Given the description of an element on the screen output the (x, y) to click on. 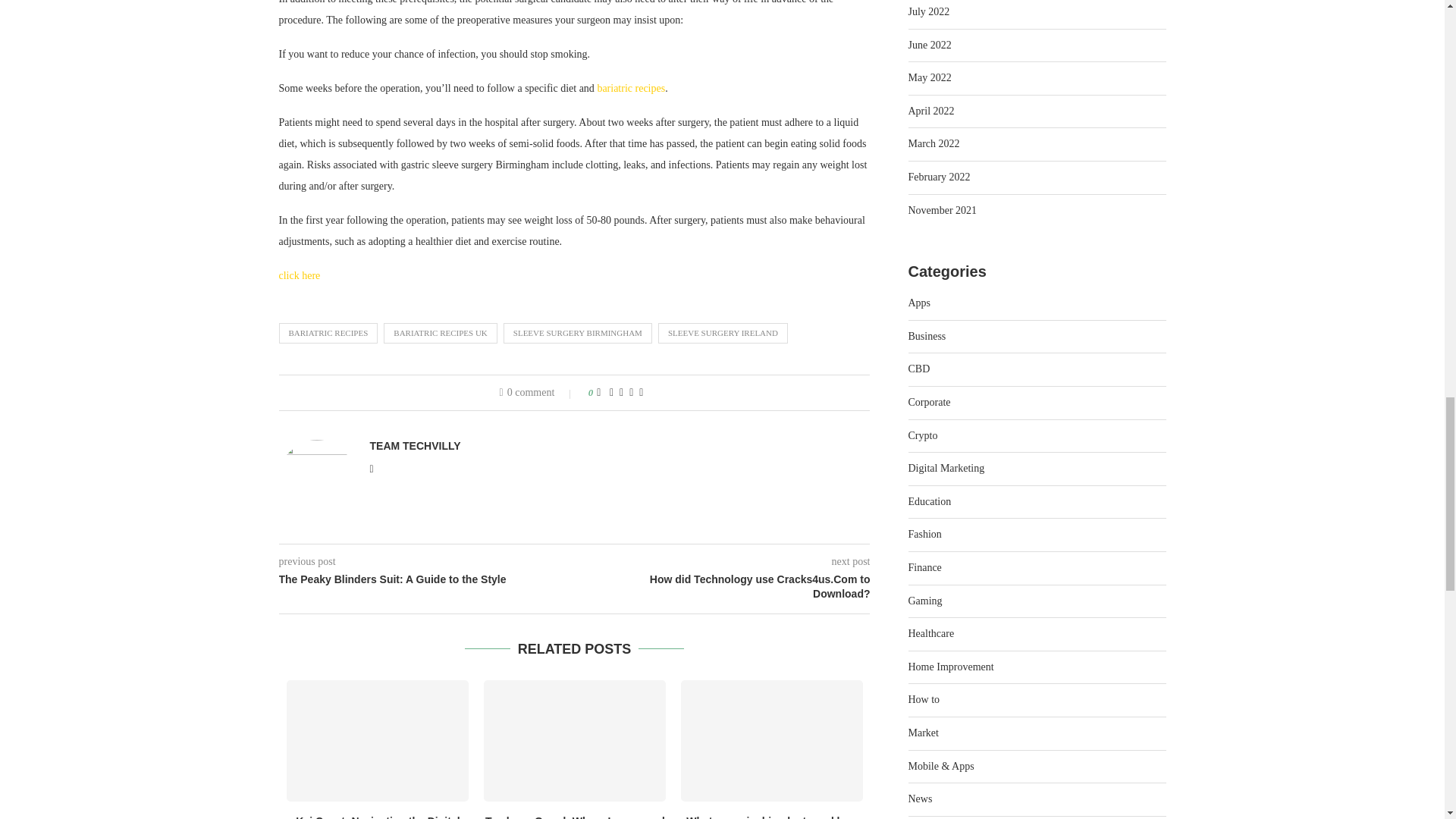
bariatric recipes (630, 88)
SLEEVE SURGERY IRELAND (722, 332)
click here (299, 275)
Author Team Techvilly (415, 445)
BARIATRIC RECIPES (328, 332)
TEAM TECHVILLY (415, 445)
SLEEVE SURGERY BIRMINGHAM (577, 332)
BARIATRIC RECIPES UK (440, 332)
Kai Cenat: Navigating the Digital Landscape with Style (377, 740)
